Given the description of an element on the screen output the (x, y) to click on. 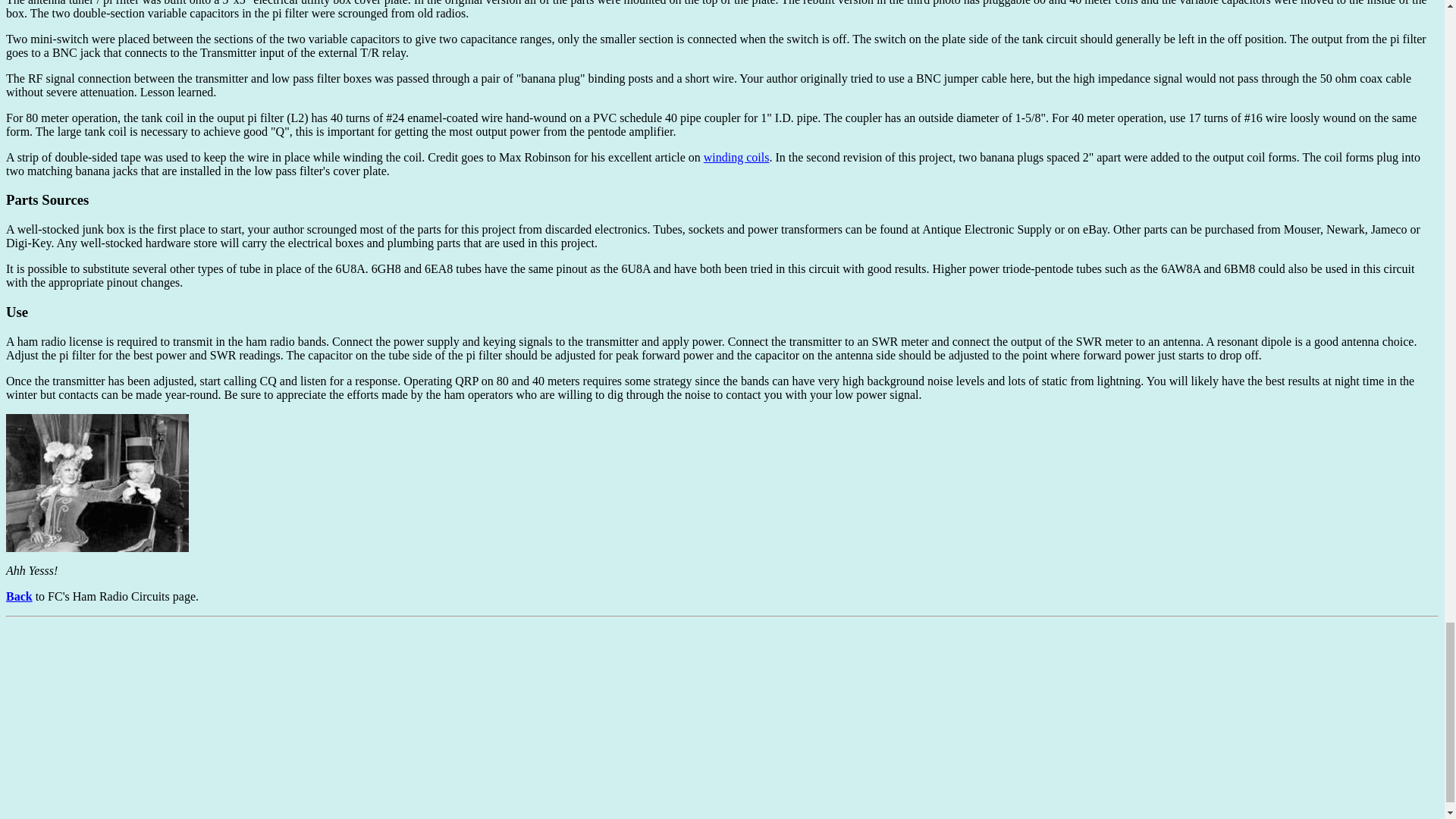
Back (18, 595)
winding coils (736, 156)
